Given the description of an element on the screen output the (x, y) to click on. 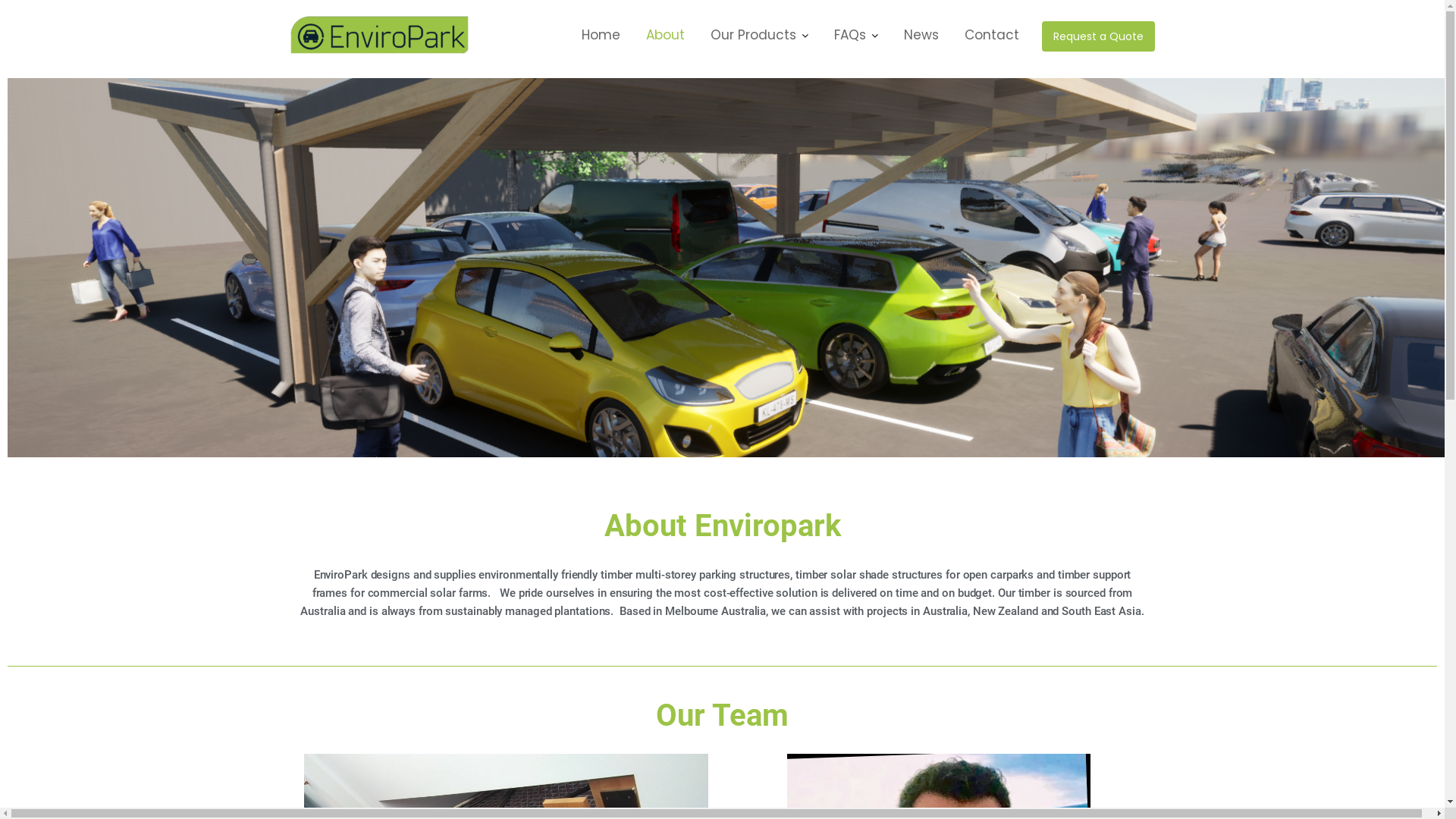
Contact Element type: text (990, 34)
Home Element type: text (600, 34)
Request a Quote Element type: text (1097, 36)
Our Products Element type: text (759, 34)
About Element type: text (664, 34)
FAQs Element type: text (855, 34)
News Element type: text (920, 34)
